Given the description of an element on the screen output the (x, y) to click on. 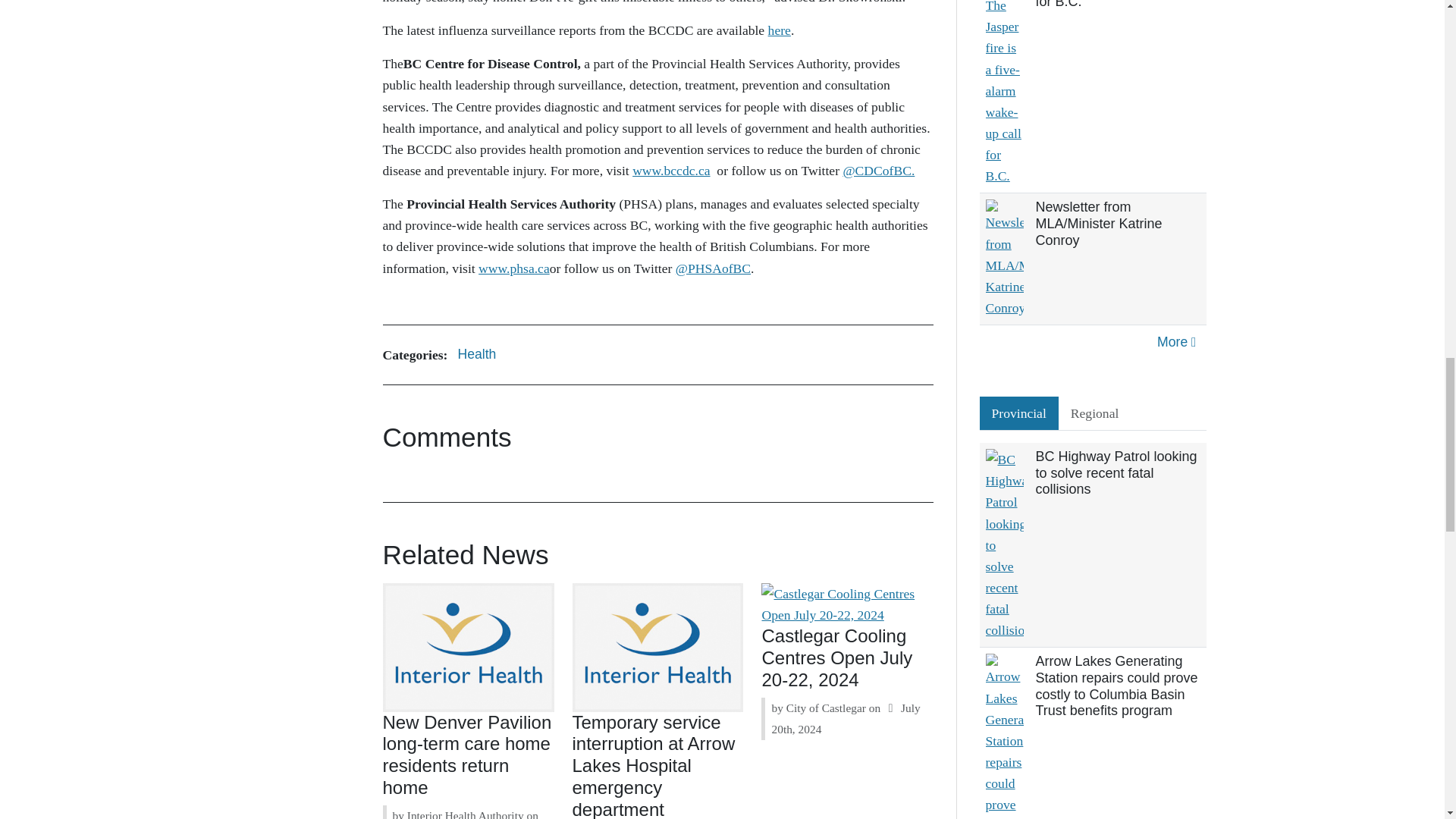
here (779, 29)
Health (475, 354)
www.phsa.ca (514, 268)
Castlegar Cooling Centres Open July 20-22, 2024 (836, 657)
www.bccdc.ca (670, 170)
